Given the description of an element on the screen output the (x, y) to click on. 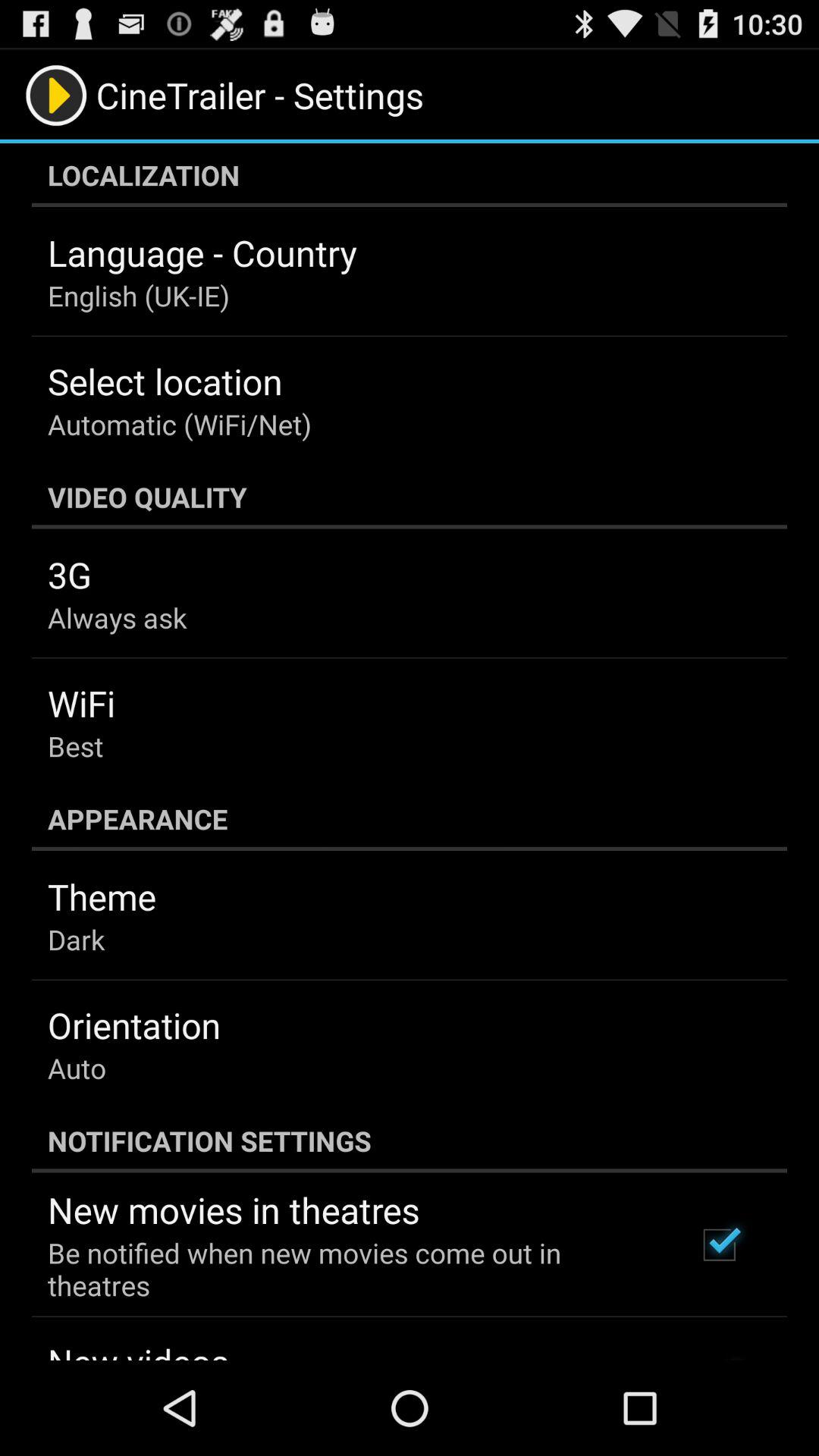
choose the item below best app (409, 818)
